Given the description of an element on the screen output the (x, y) to click on. 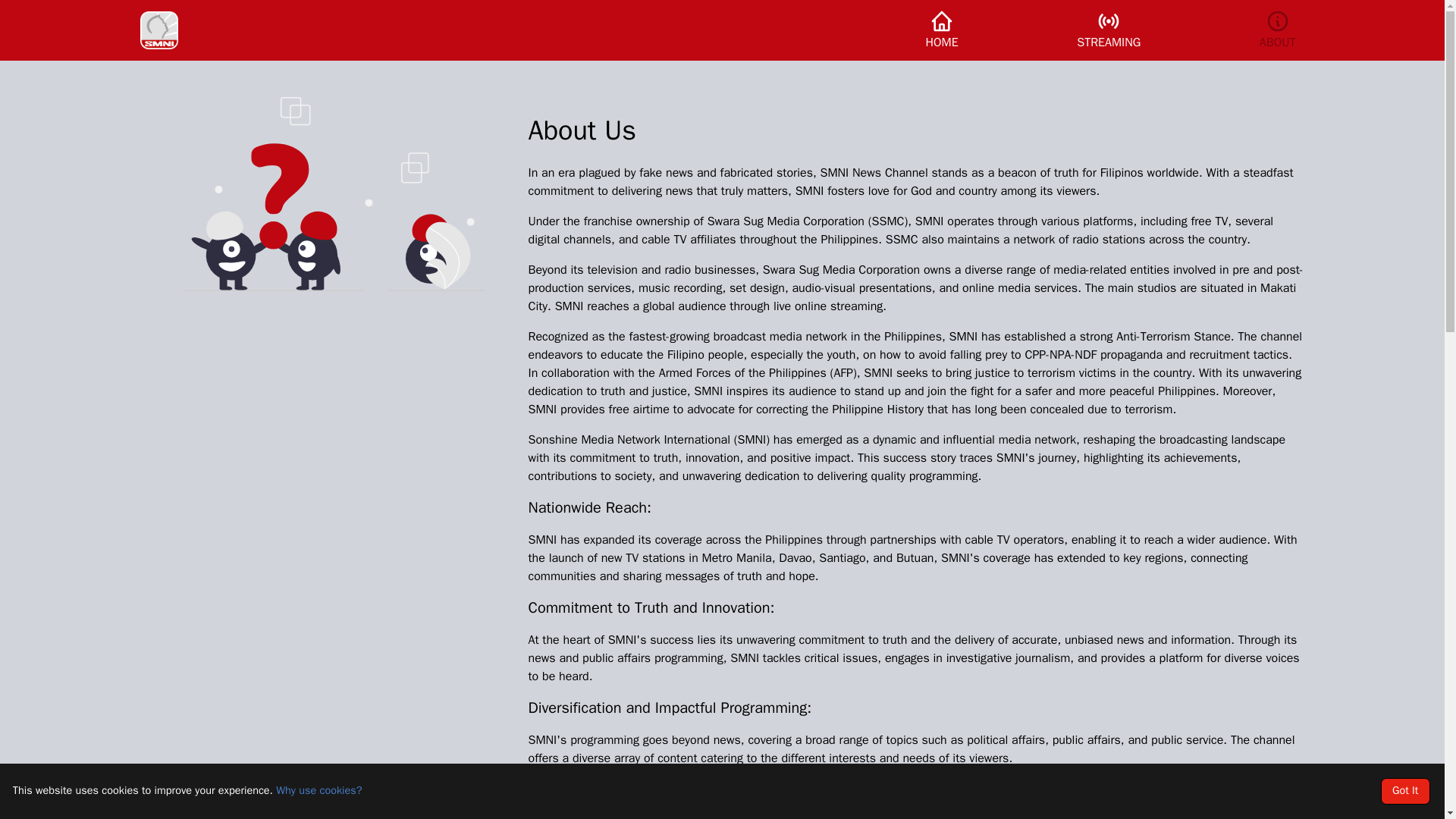
Why use cookies? (318, 789)
STREAMING (1108, 30)
Got It (1404, 791)
Why use cookies? (318, 789)
